Given the description of an element on the screen output the (x, y) to click on. 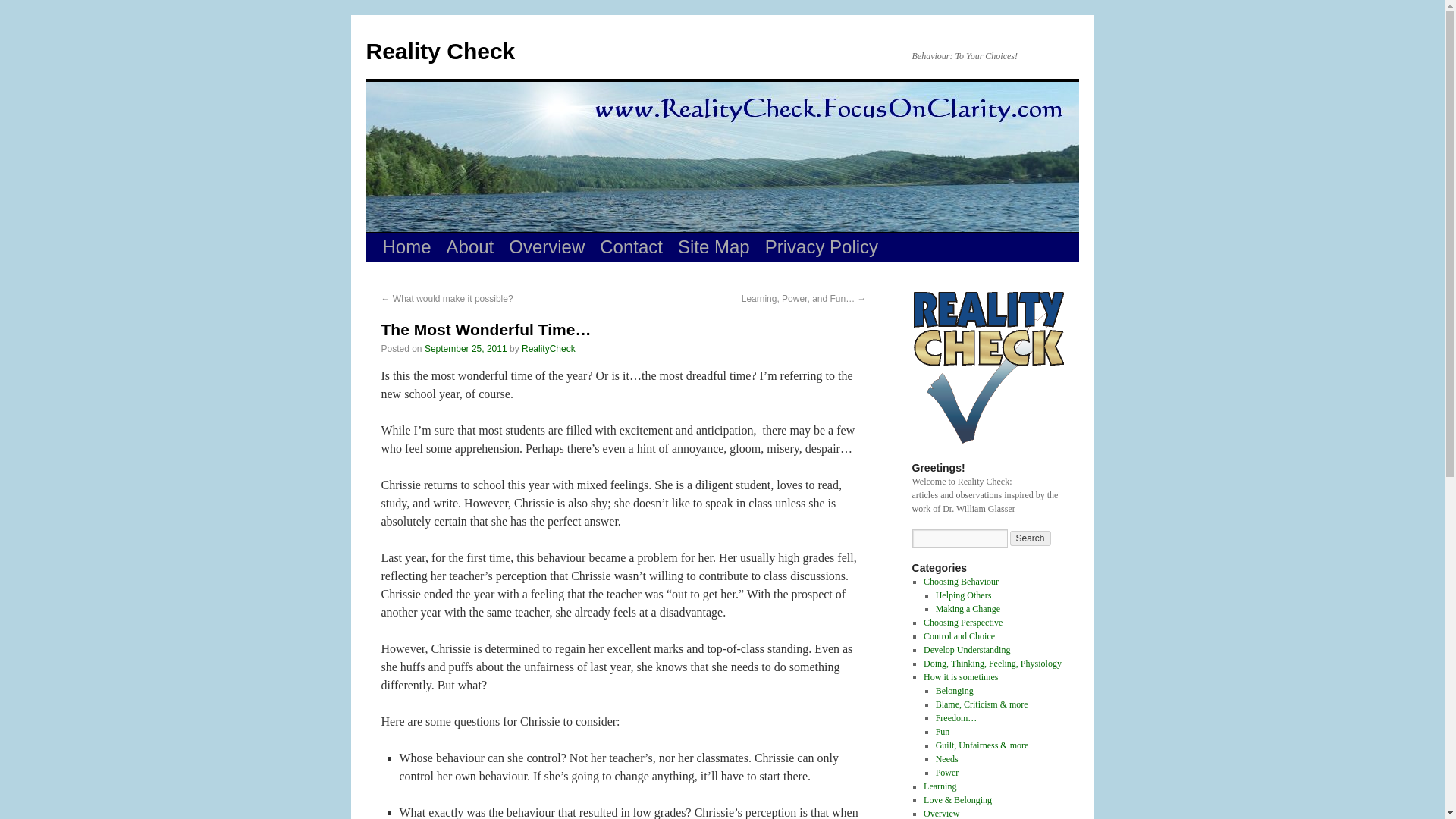
Site Map (713, 246)
Needs (947, 758)
Learning (939, 786)
About (470, 246)
Choosing Perspective (963, 622)
Search (1030, 538)
Choosing Behaviour (960, 581)
Contact (630, 246)
View all posts by RealityCheck (548, 348)
Belonging (955, 690)
Overview (941, 813)
How it is sometimes (960, 676)
Reality Check (440, 50)
Home (406, 246)
Helping Others (963, 594)
